Given the description of an element on the screen output the (x, y) to click on. 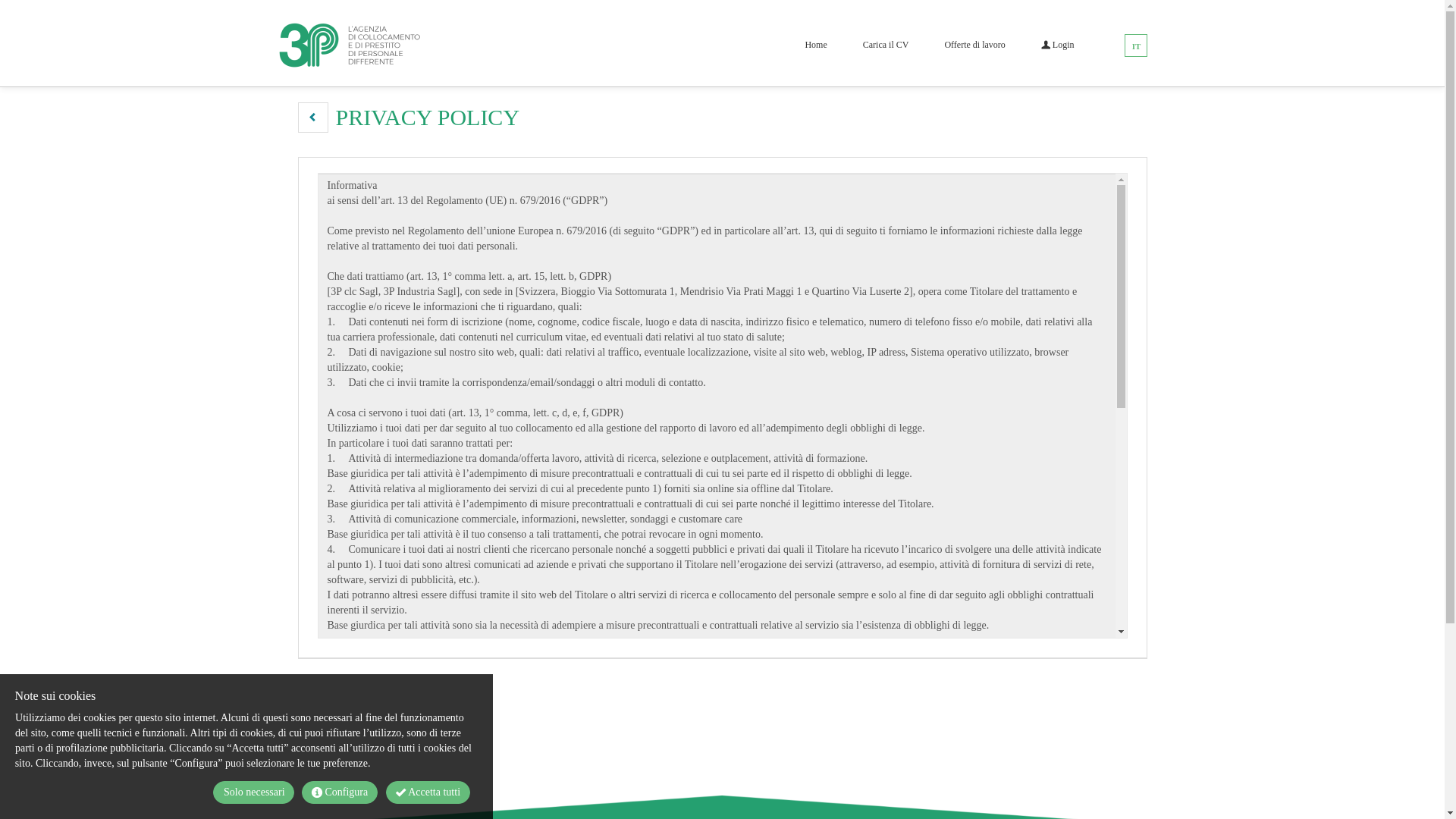
IT Element type: text (1136, 45)
Home Element type: text (815, 44)
Carica il CV Element type: text (885, 44)
Accetta tutti Element type: text (427, 792)
Login Element type: text (1057, 44)
Offerte di lavoro Element type: text (974, 44)
Solo necessari Element type: text (253, 792)
